Given the description of an element on the screen output the (x, y) to click on. 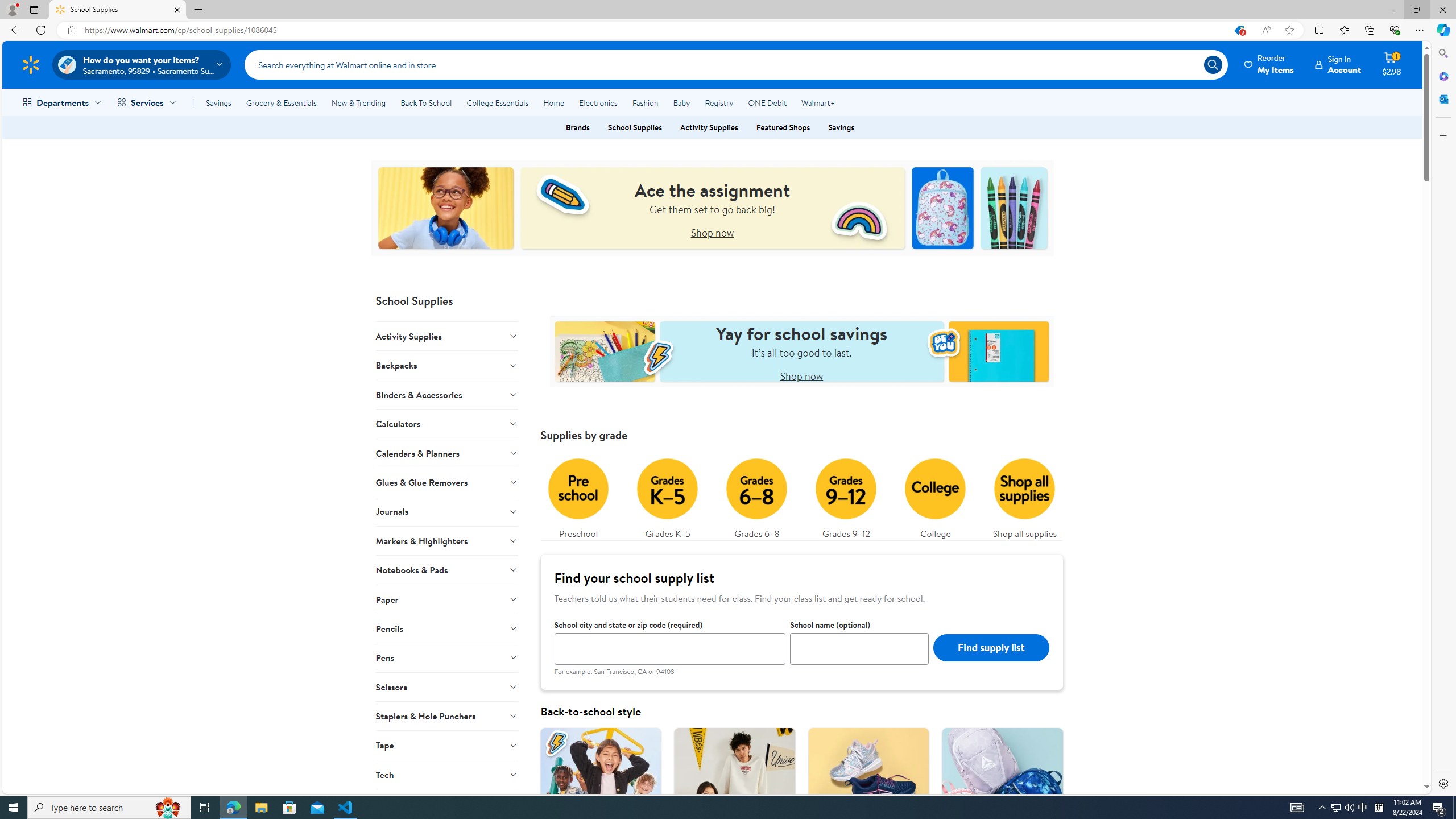
Cart contains 1 item Total Amount $2.98 (1391, 64)
Brands (577, 126)
Notebooks & Pads (446, 569)
Calculators (446, 423)
Grocery & Essentials (280, 102)
Journals (446, 510)
ONE Debit (767, 102)
Savings (217, 102)
